Given the description of an element on the screen output the (x, y) to click on. 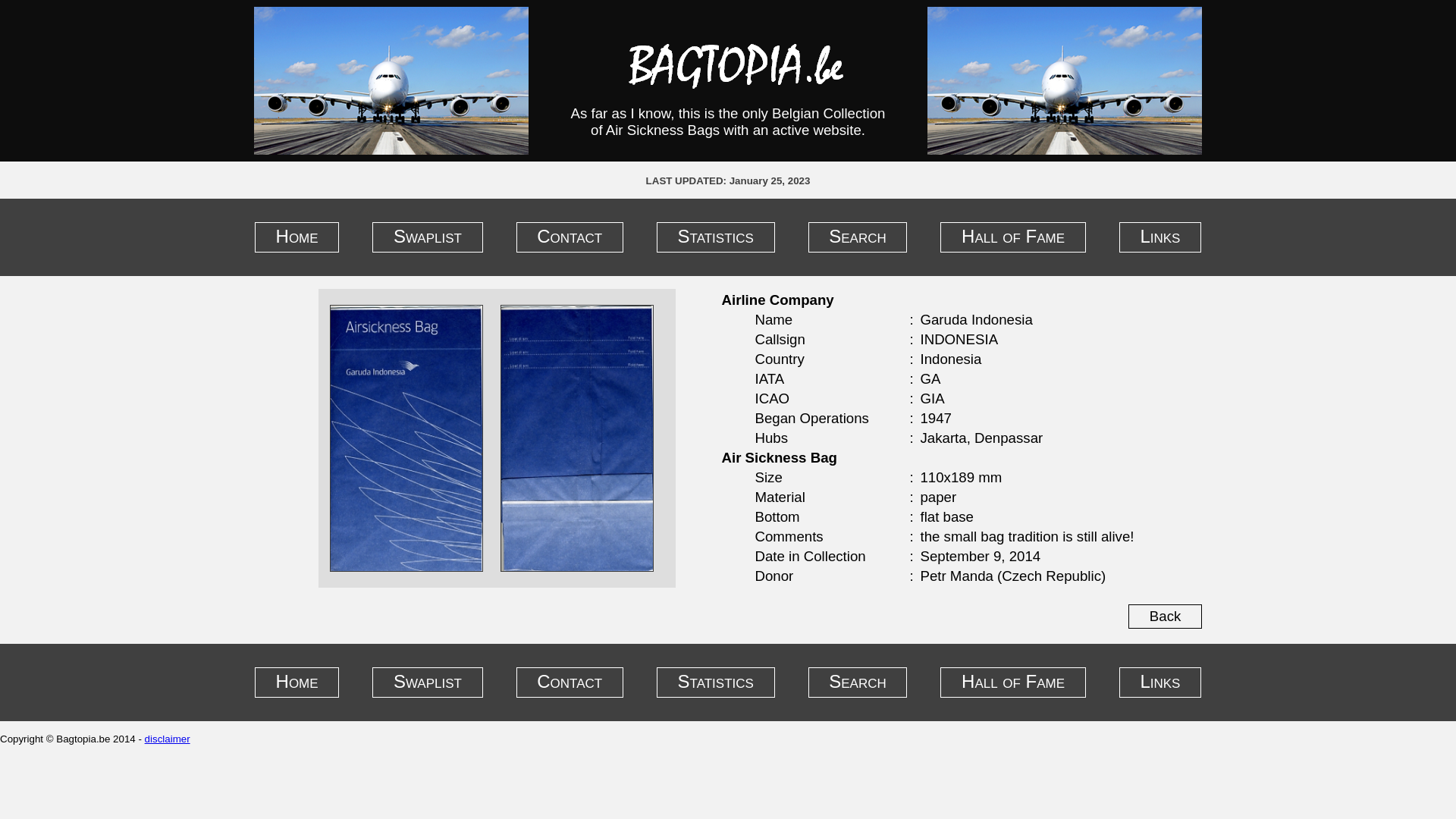
Swaplist Element type: text (427, 682)
Home Element type: text (296, 237)
Hall of Fame Element type: text (1012, 682)
Contact Element type: text (569, 682)
Back Element type: text (1164, 616)
Swaplist Element type: text (427, 237)
Links Element type: text (1160, 682)
Statistics Element type: text (715, 682)
Home Element type: text (296, 682)
Statistics Element type: text (715, 237)
Search Element type: text (857, 682)
Contact Element type: text (569, 237)
Search Element type: text (857, 237)
disclaimer Element type: text (167, 738)
Links Element type: text (1160, 237)
Hall of Fame Element type: text (1012, 237)
